Given the description of an element on the screen output the (x, y) to click on. 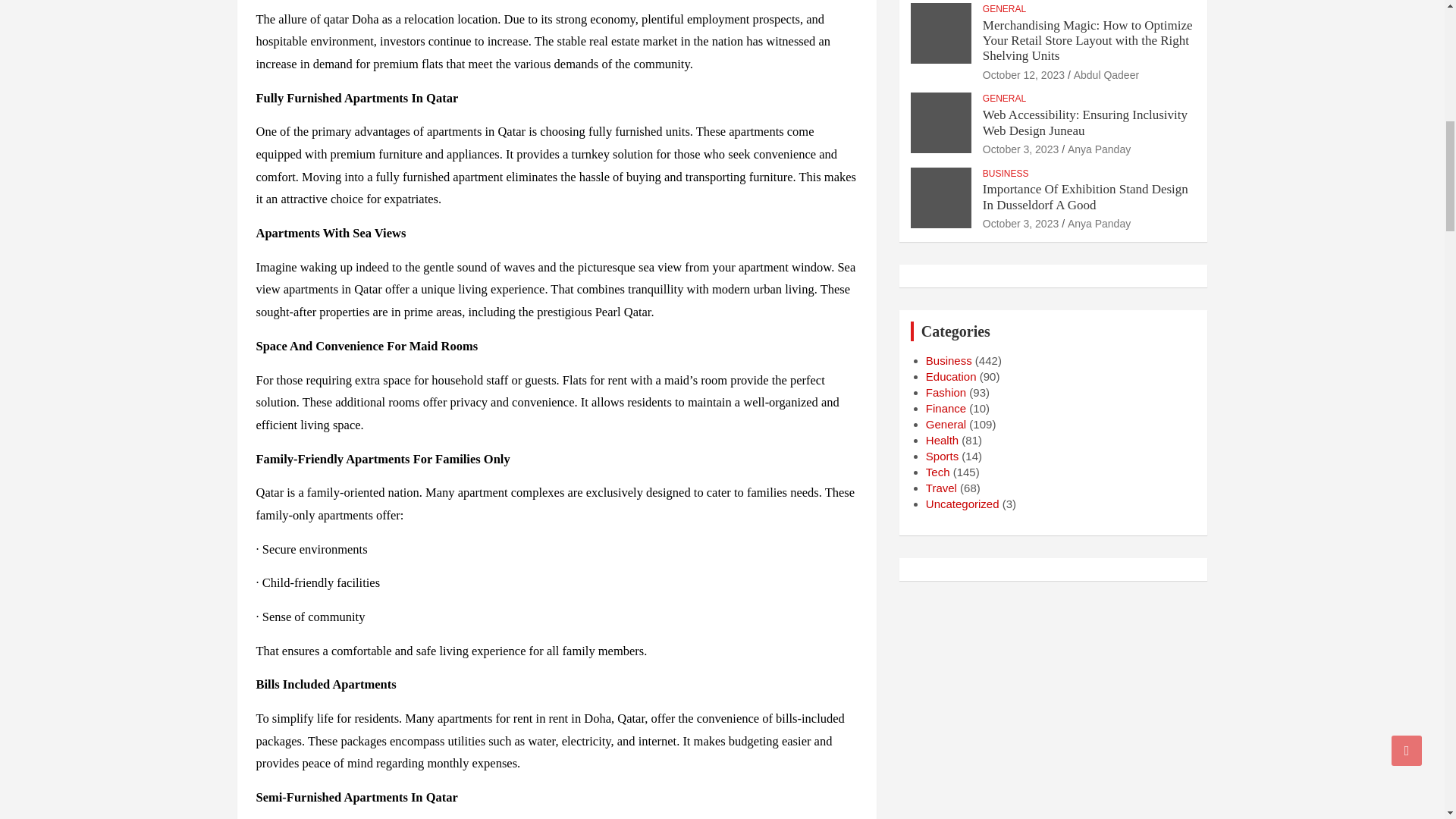
Web Accessibility: Ensuring Inclusivity Web Design Juneau (1020, 149)
Importance Of Exhibition Stand Design In Dusseldorf A Good (1020, 223)
